Given the description of an element on the screen output the (x, y) to click on. 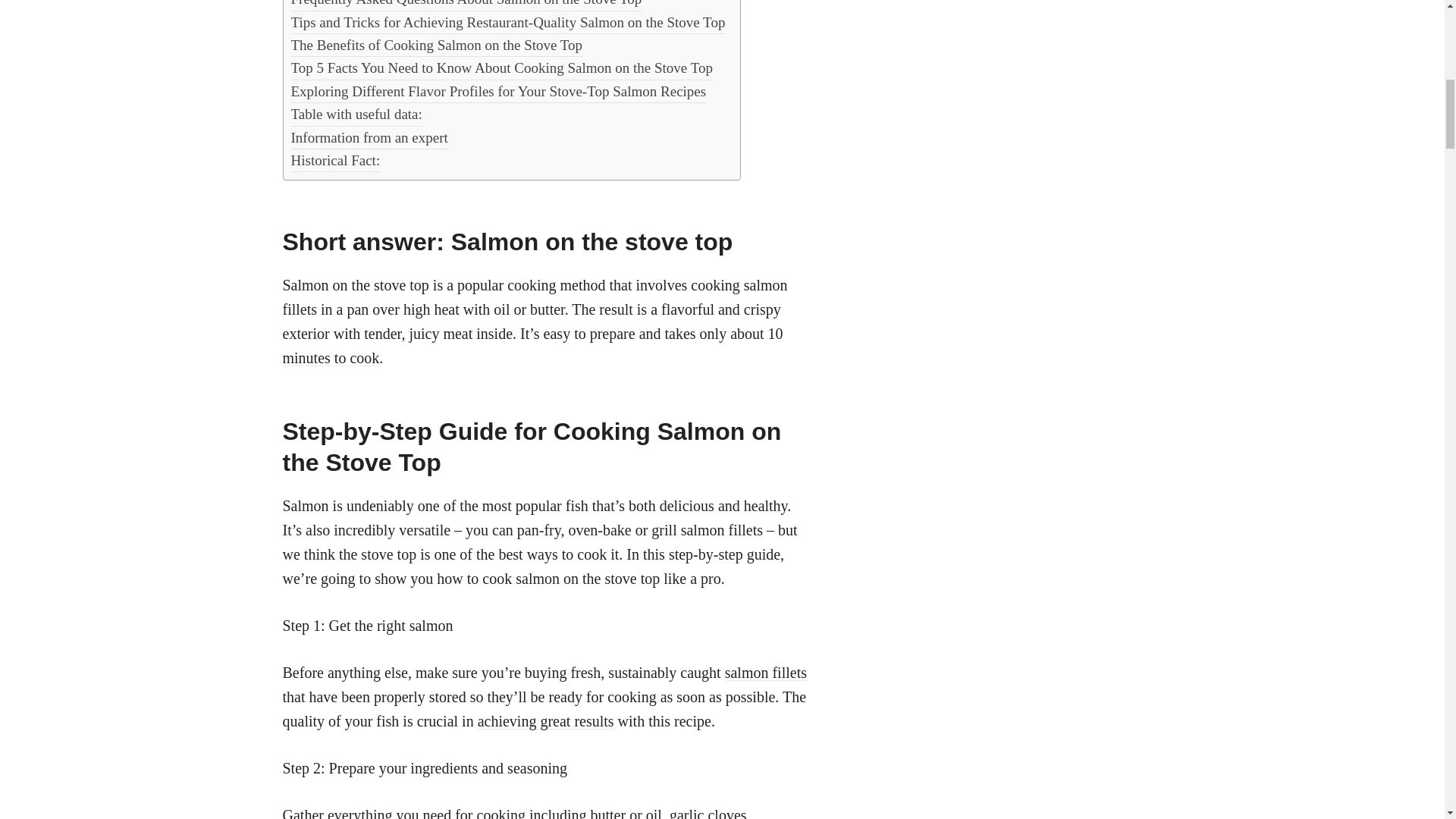
Information from an expert (437, 45)
Table with useful data: (369, 137)
Historical Fact: (466, 5)
